Given the description of an element on the screen output the (x, y) to click on. 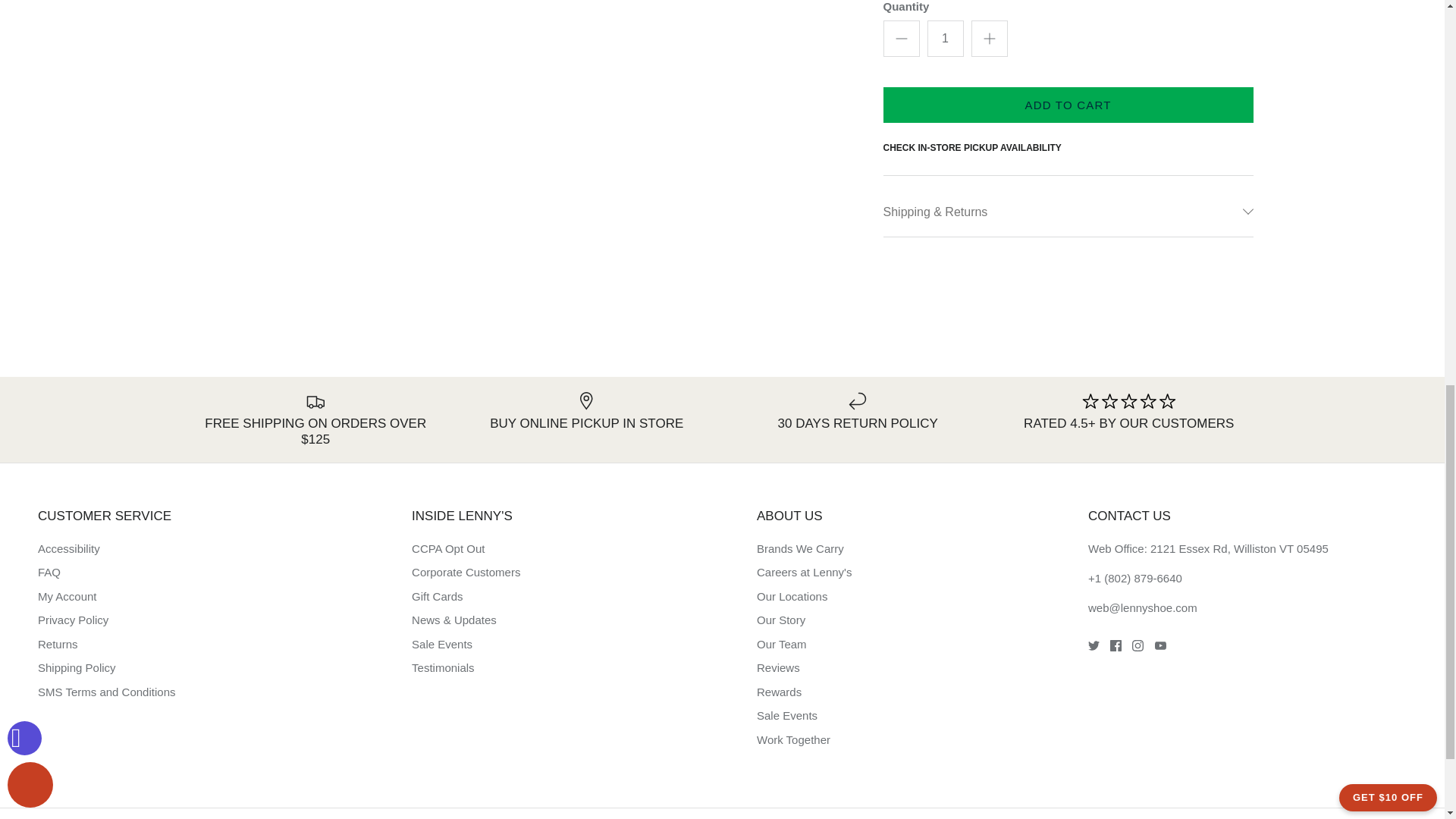
1 (944, 38)
Plus (988, 38)
Minus (900, 38)
Facebook (1115, 645)
Twitter (1093, 645)
